Given the description of an element on the screen output the (x, y) to click on. 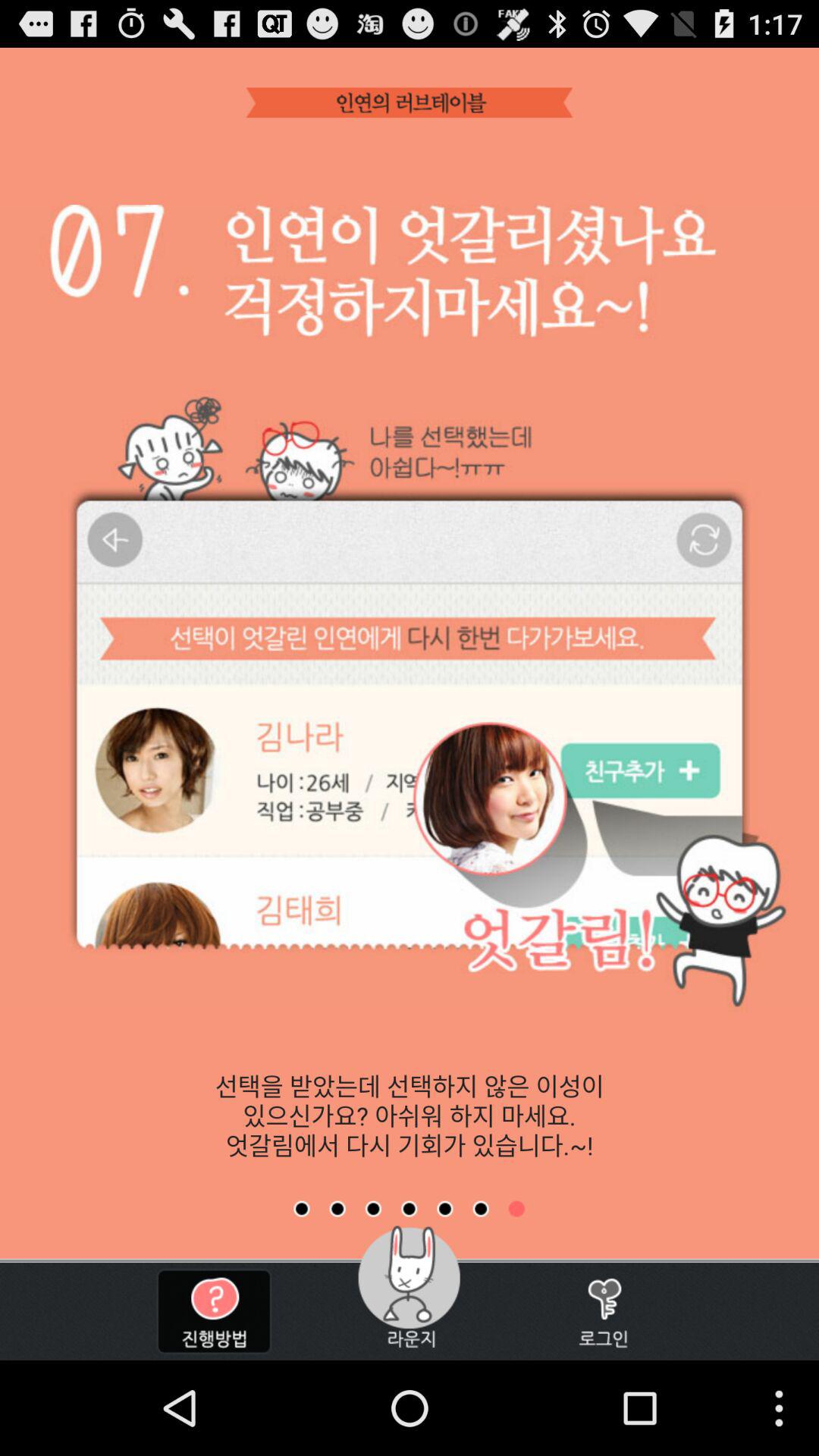
show a specific page of the app (516, 1208)
